Given the description of an element on the screen output the (x, y) to click on. 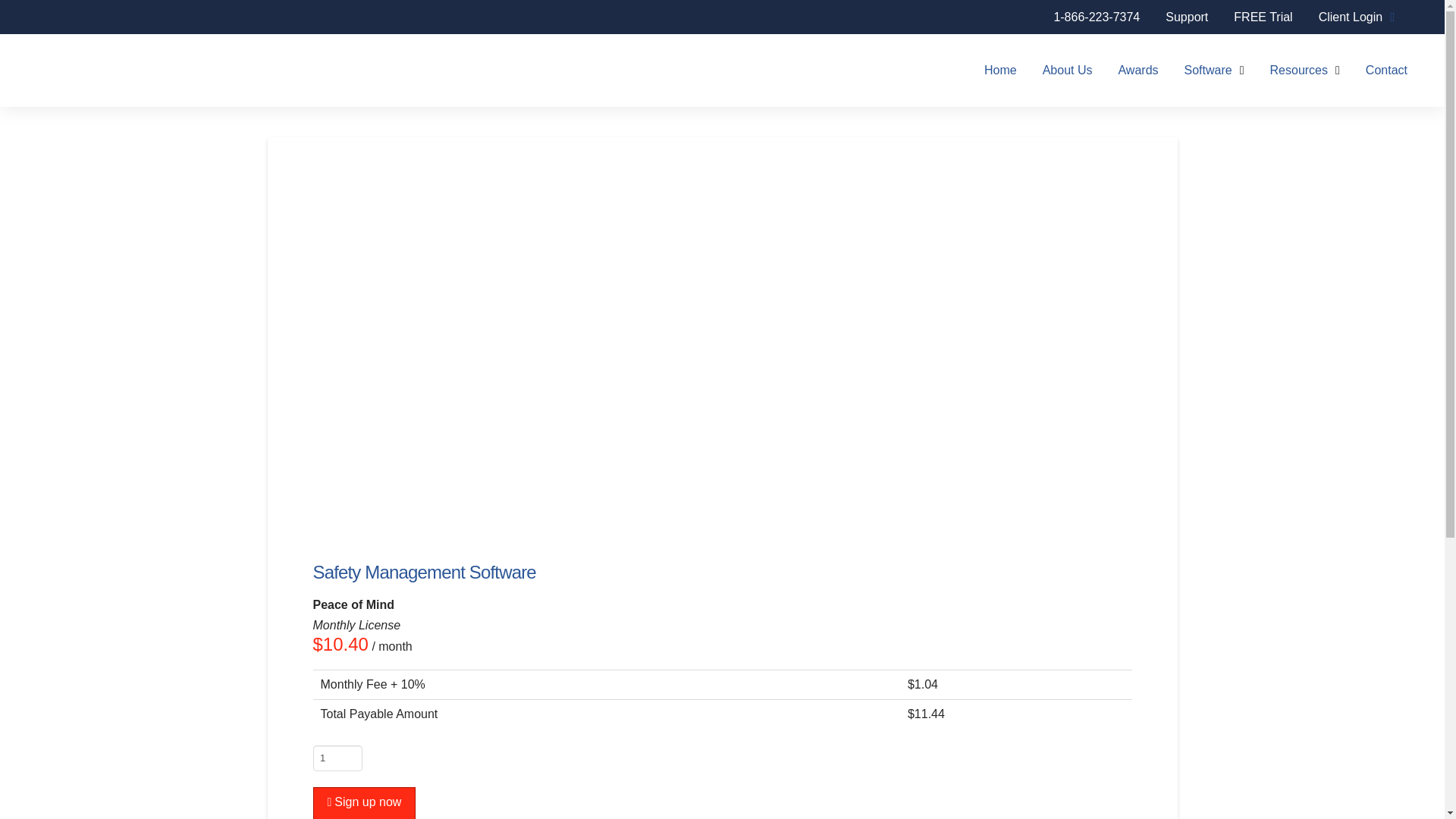
Home (1000, 70)
Resources (1304, 70)
1 (337, 758)
Sign up now (363, 803)
Client Login (1356, 18)
FREE Trial (1262, 18)
Support (1187, 18)
Awards (1137, 70)
About Us (1067, 70)
Software (1214, 70)
1-866-223-7374 (1097, 18)
Contact (1386, 70)
